Given the description of an element on the screen output the (x, y) to click on. 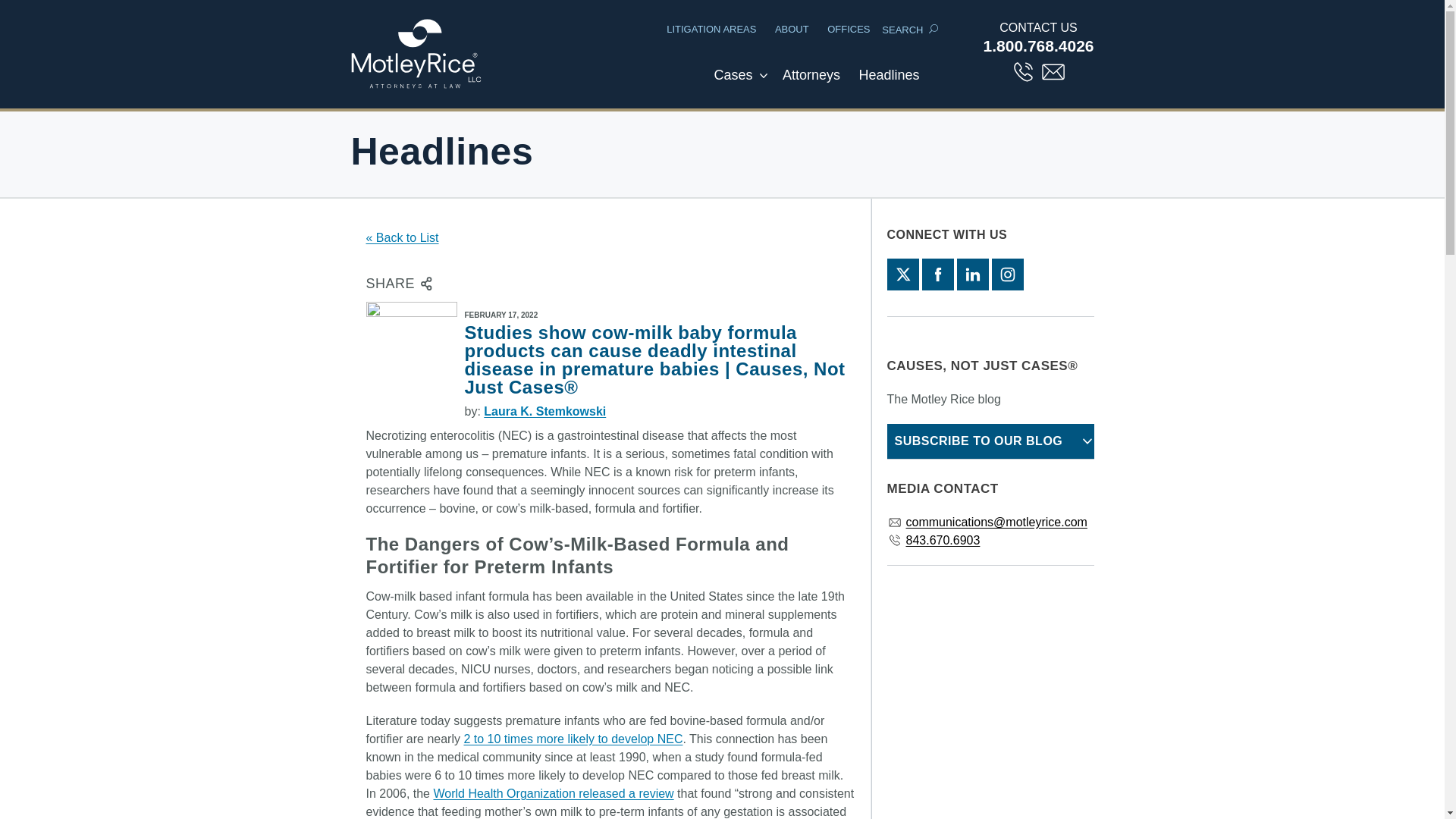
OFFICES (848, 29)
Combined News (888, 84)
Laura K. Stemkowski (544, 410)
Attorneys (810, 84)
Headlines (888, 84)
Email (1053, 71)
ABOUT (791, 29)
Open (763, 75)
World Health Organization released a review (552, 793)
CONTACT US (1039, 27)
2 to 10 times more likely to develop NEC (572, 738)
LITIGATION AREAS (710, 29)
1.800.768.4026 (1039, 45)
Cases (733, 84)
